Given the description of an element on the screen output the (x, y) to click on. 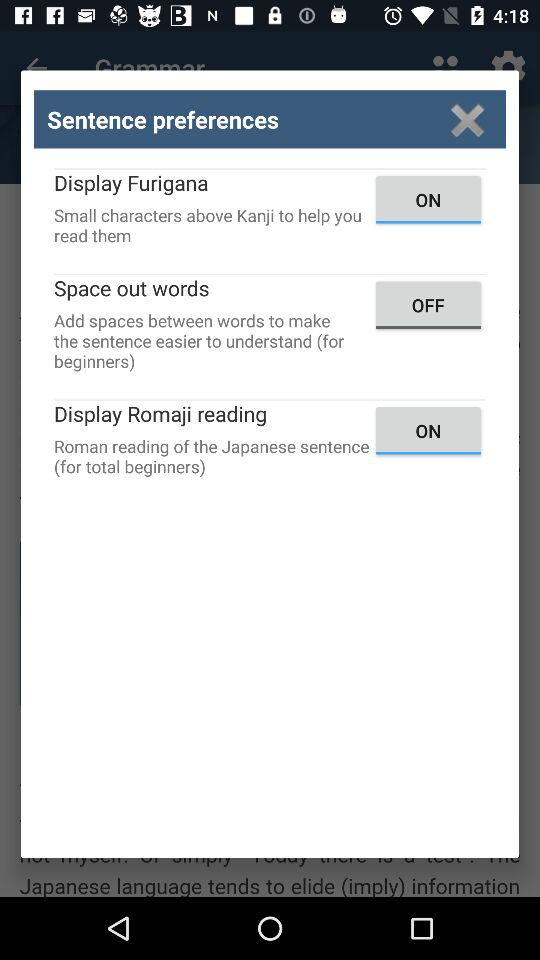
press the item above on (467, 119)
